Given the description of an element on the screen output the (x, y) to click on. 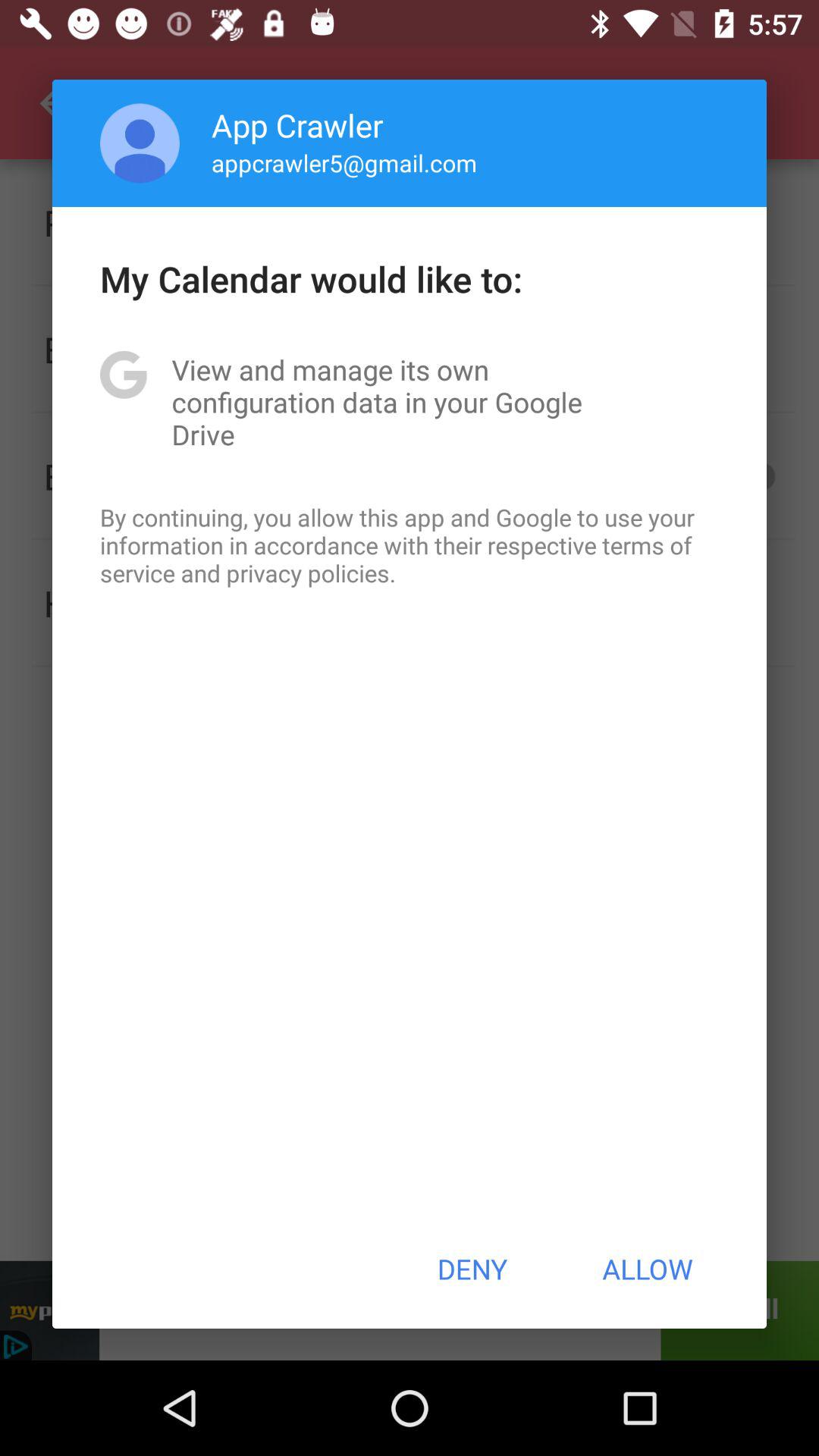
turn off app above by continuing you item (409, 401)
